Given the description of an element on the screen output the (x, y) to click on. 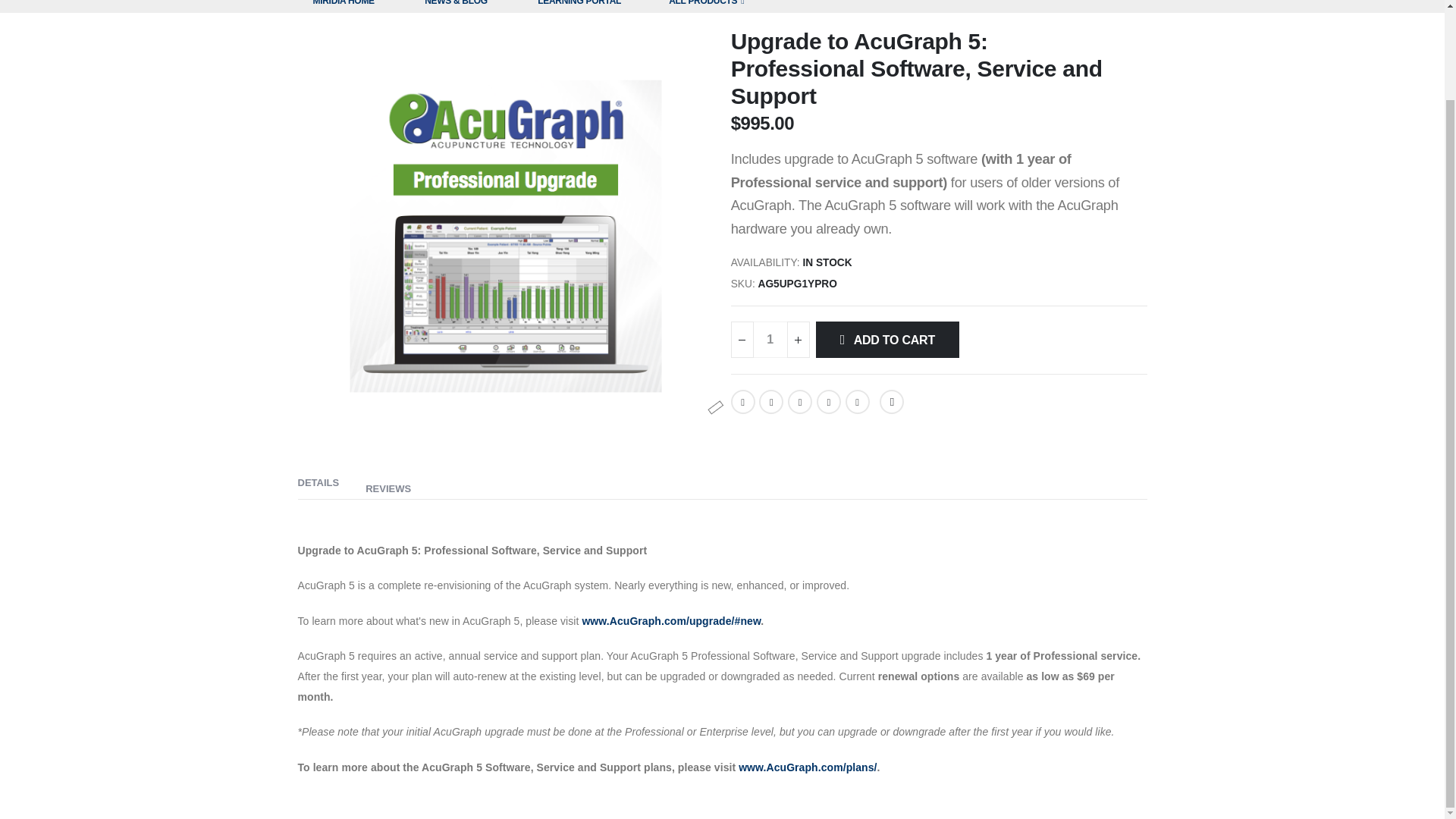
All Products (705, 6)
MIRIDIA HOME (342, 6)
1 (770, 339)
ALL PRODUCTS (705, 6)
LEARNING PORTAL (579, 6)
